Given the description of an element on the screen output the (x, y) to click on. 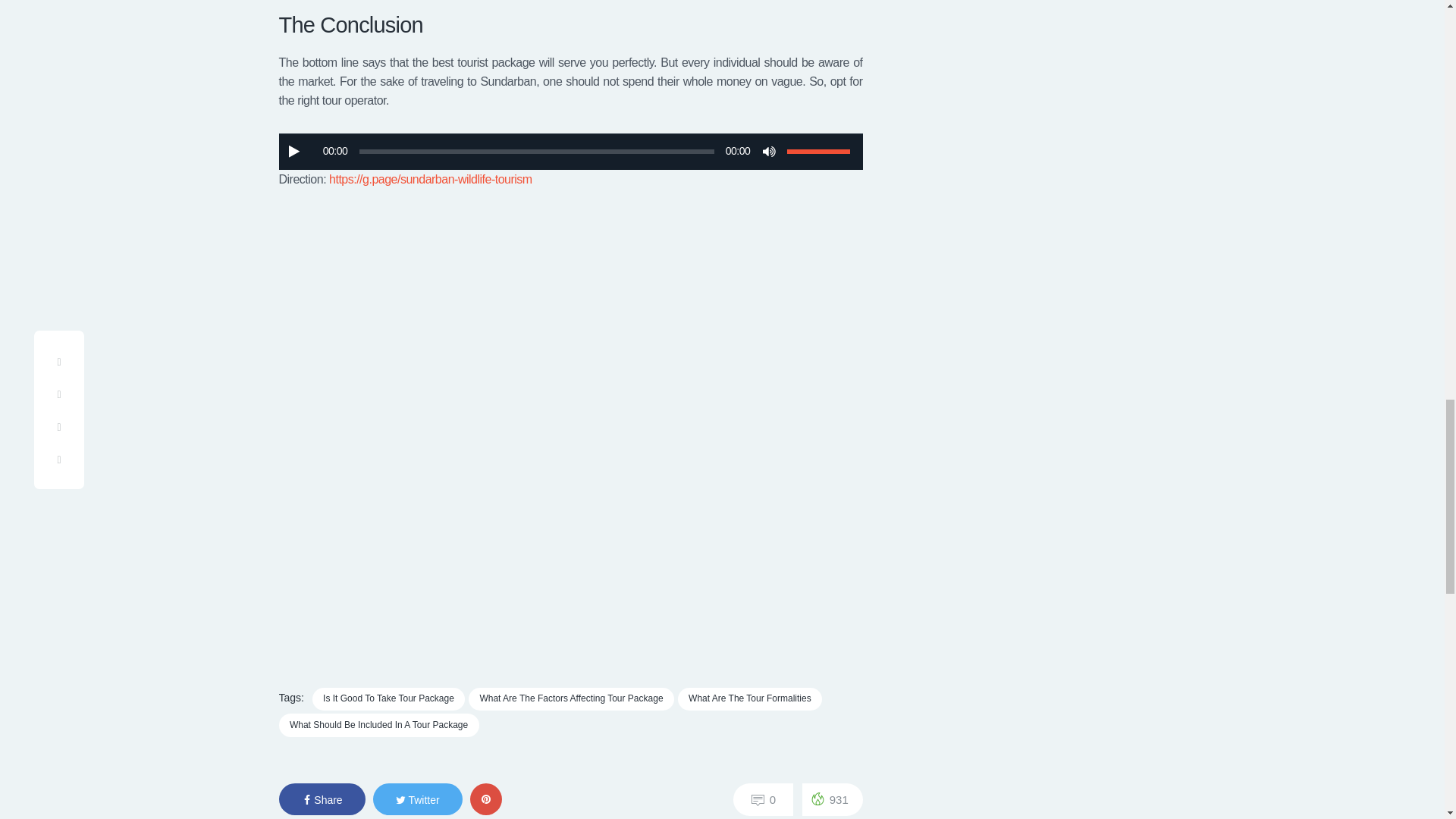
Play (293, 151)
Mute (768, 151)
